Given the description of an element on the screen output the (x, y) to click on. 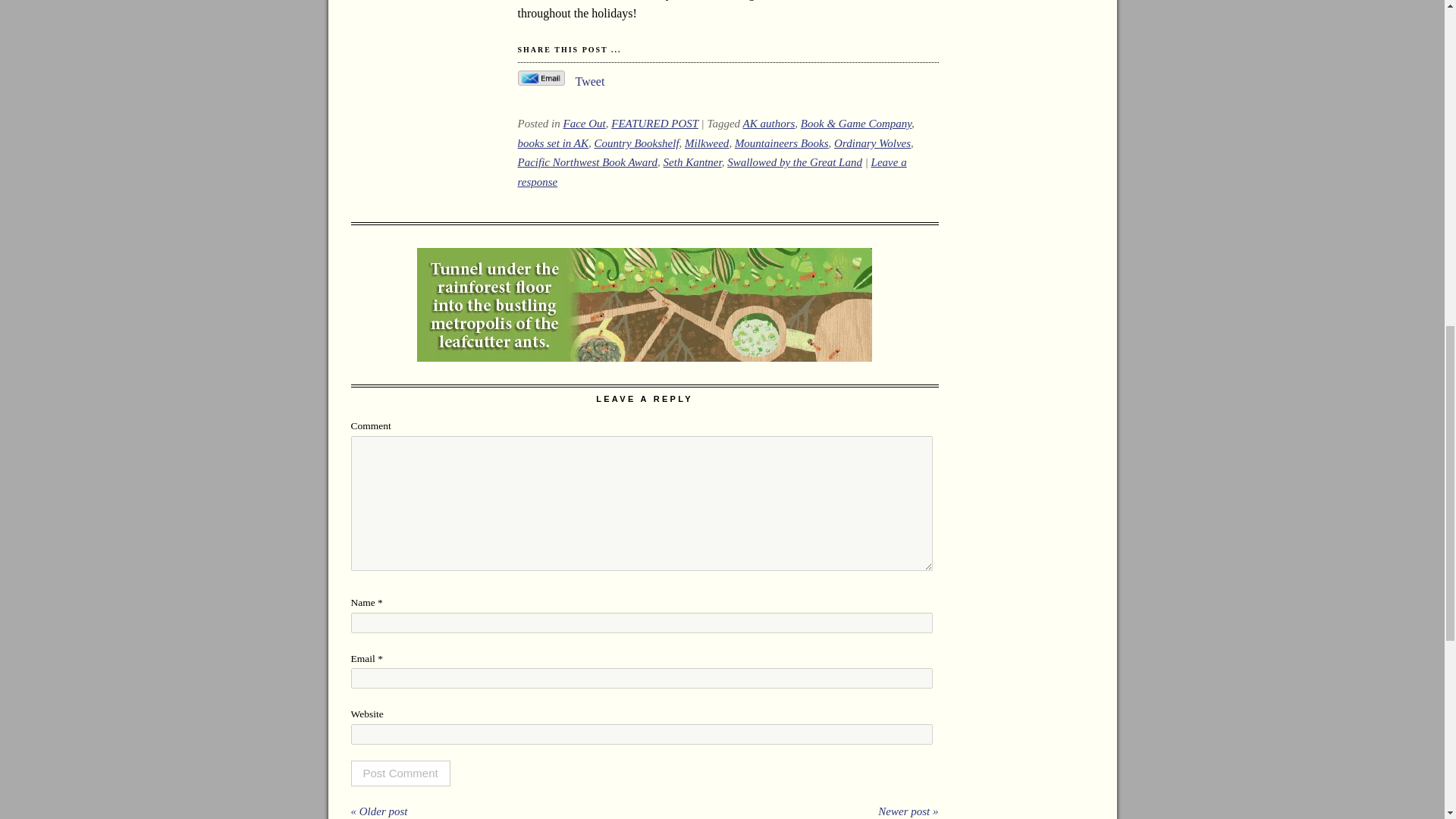
Post Comment (399, 773)
FEATURED POST (654, 123)
Swallowed by the Great Land (793, 162)
Mountaineers Books (781, 143)
Tweet (589, 81)
Country Bookshelf (636, 143)
Seth Kantner (692, 162)
Face Out (583, 123)
Milkweed (706, 143)
Leave a response (710, 172)
books set in AK (552, 143)
Ordinary Wolves (872, 143)
AK authors (768, 123)
Pacific Northwest Book Award (587, 162)
